Given the description of an element on the screen output the (x, y) to click on. 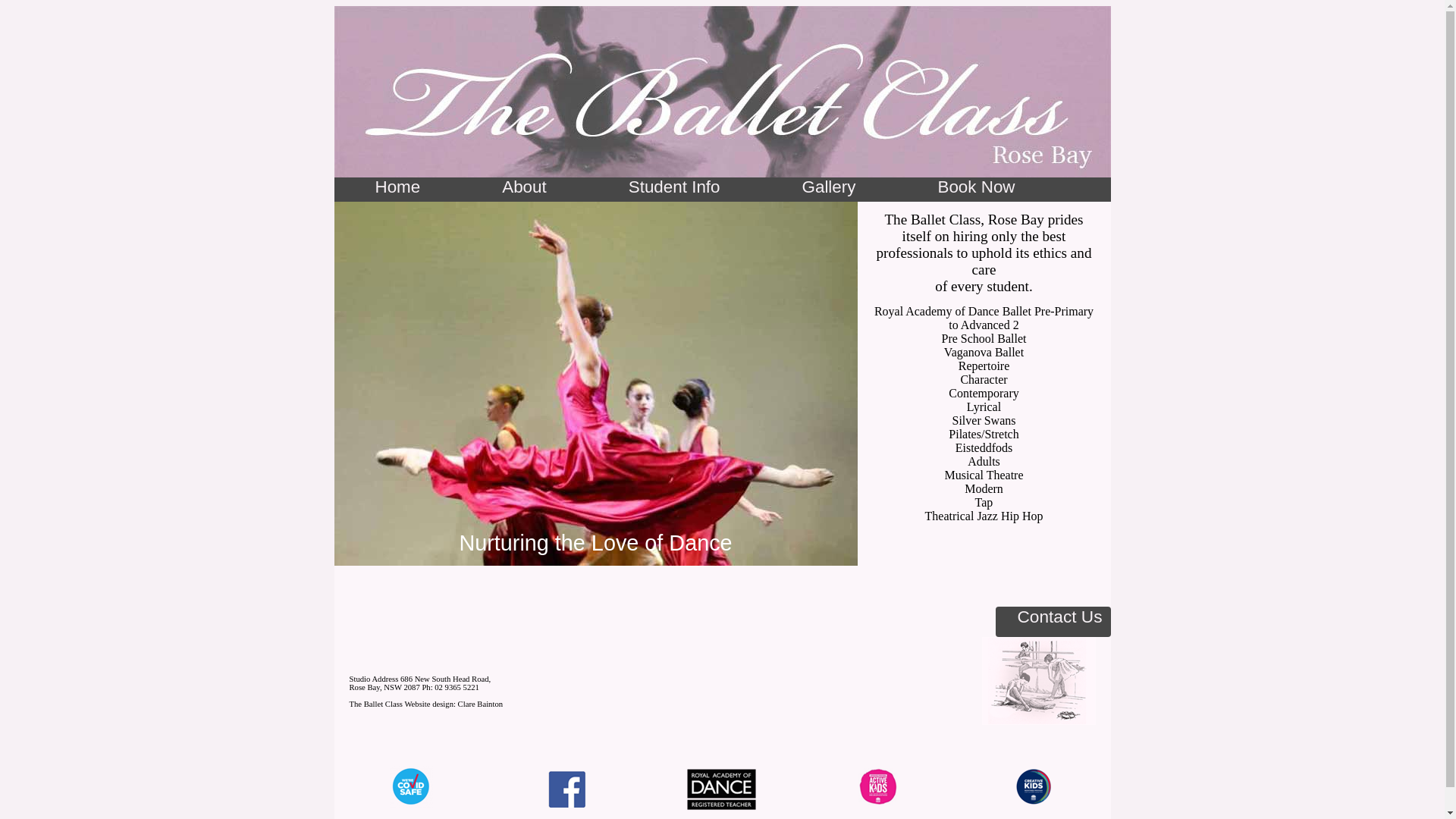
Gallery Element type: text (829, 186)
Service NSW Active Kids logo/link Element type: hover (877, 786)
RADance logo/link Element type: hover (721, 789)
Student Info Element type: text (674, 186)
facebook page link Element type: hover (567, 800)
Service NSW Creative kids logo/link Element type: hover (1033, 786)
About Element type: text (524, 186)
Contact Us Element type: text (1052, 621)
The Ballet Class students onstage Element type: hover (594, 383)
Facebook logo/link Element type: hover (567, 789)
Book Now Element type: text (975, 186)
Home Element type: text (397, 186)
The Ballet Class Logo Element type: hover (1038, 680)
Covid safe logo Element type: hover (411, 786)
